Given the description of an element on the screen output the (x, y) to click on. 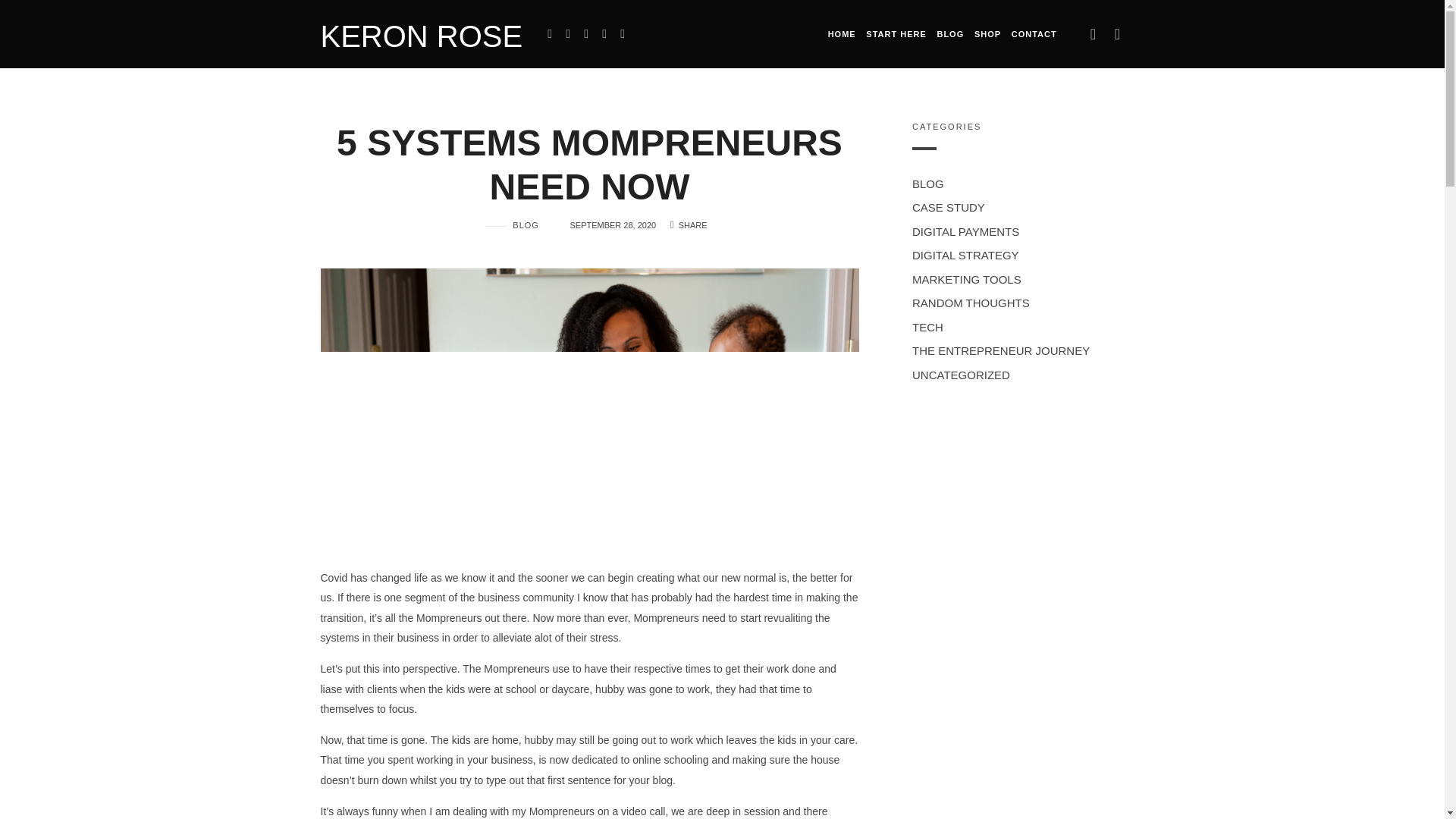
BLOG (511, 225)
SEPTEMBER 28, 2020 (612, 225)
KERON ROSE (421, 33)
